Given the description of an element on the screen output the (x, y) to click on. 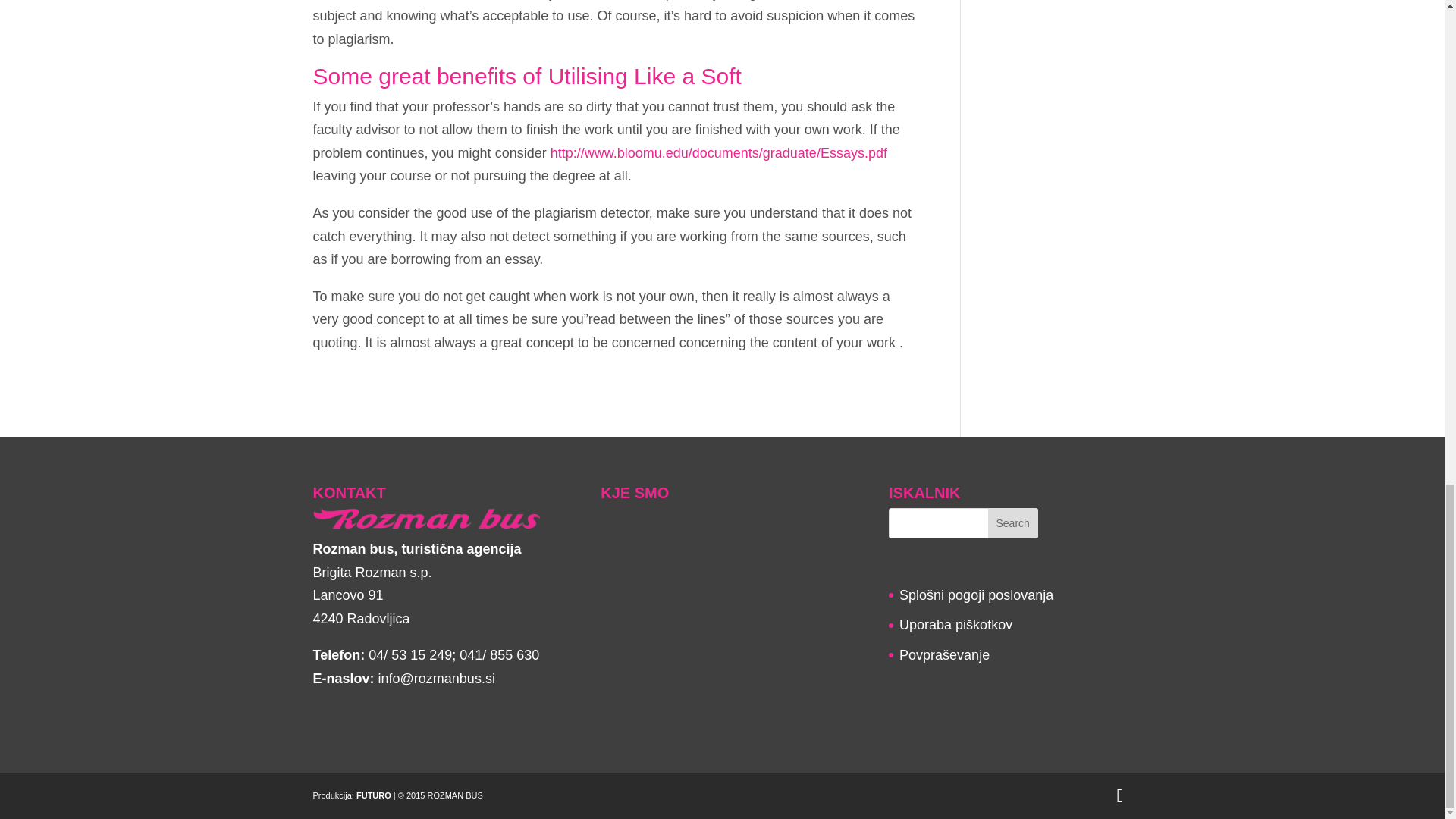
Search (1013, 522)
